Given the description of an element on the screen output the (x, y) to click on. 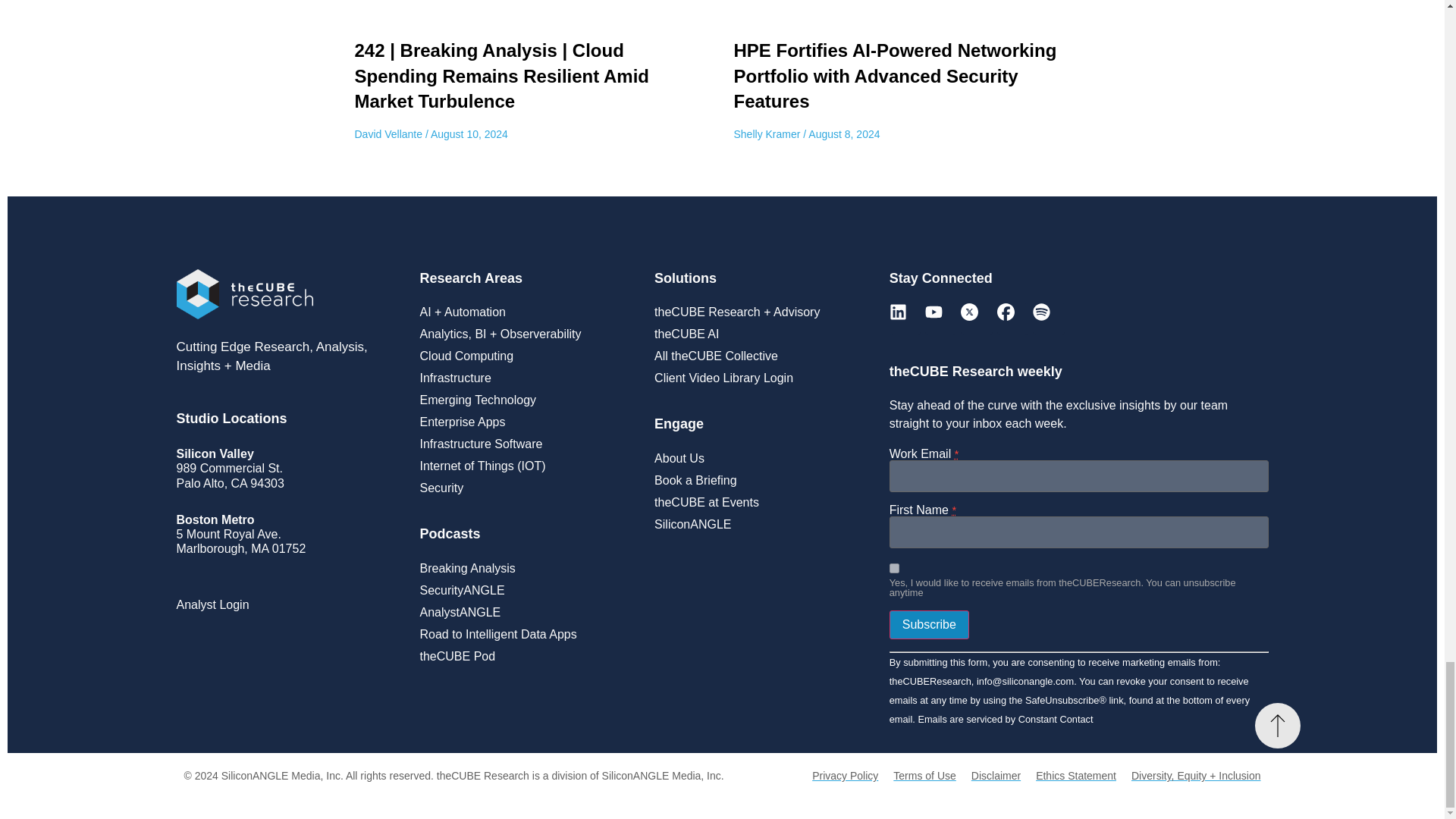
Enterprise Apps (528, 422)
Subscribe (929, 624)
1 (894, 568)
Emerging Technology (528, 400)
Infrastructure (528, 378)
Infrastructure Software (528, 443)
Cloud Computing (528, 356)
Analyst Login (212, 605)
